Given the description of an element on the screen output the (x, y) to click on. 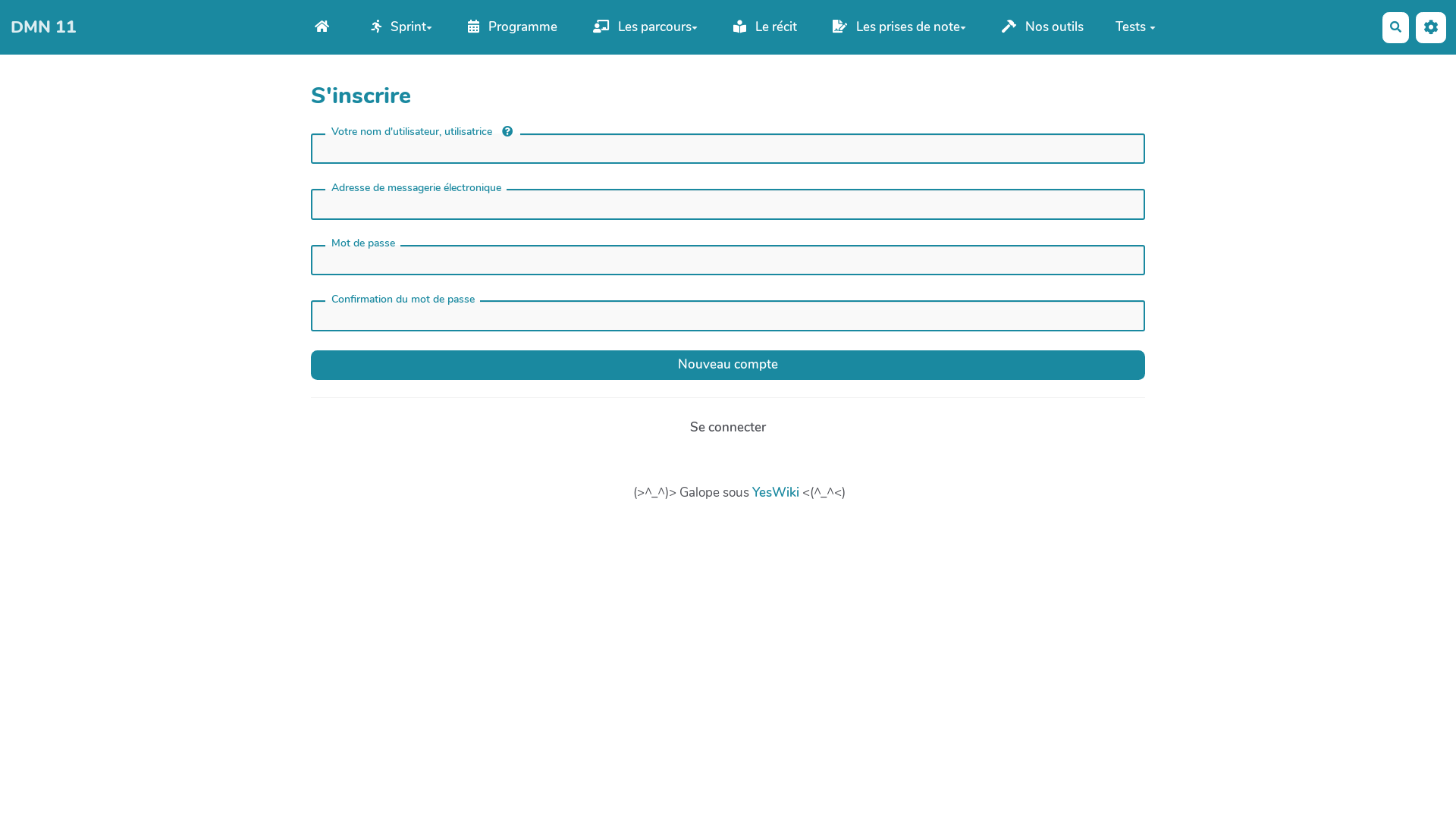
Sprint Element type: text (401, 27)
Les prises de note Element type: text (898, 27)
Nos outils Element type: text (1042, 27)
Se connecter Element type: text (727, 427)
Les parcours Element type: text (644, 27)
Programme Element type: text (512, 27)
Nouveau compte Element type: text (727, 364)
Tests Element type: text (1135, 27)
YesWiki Element type: text (775, 492)
Rechercher Element type: text (1394, 27)
